Given the description of an element on the screen output the (x, y) to click on. 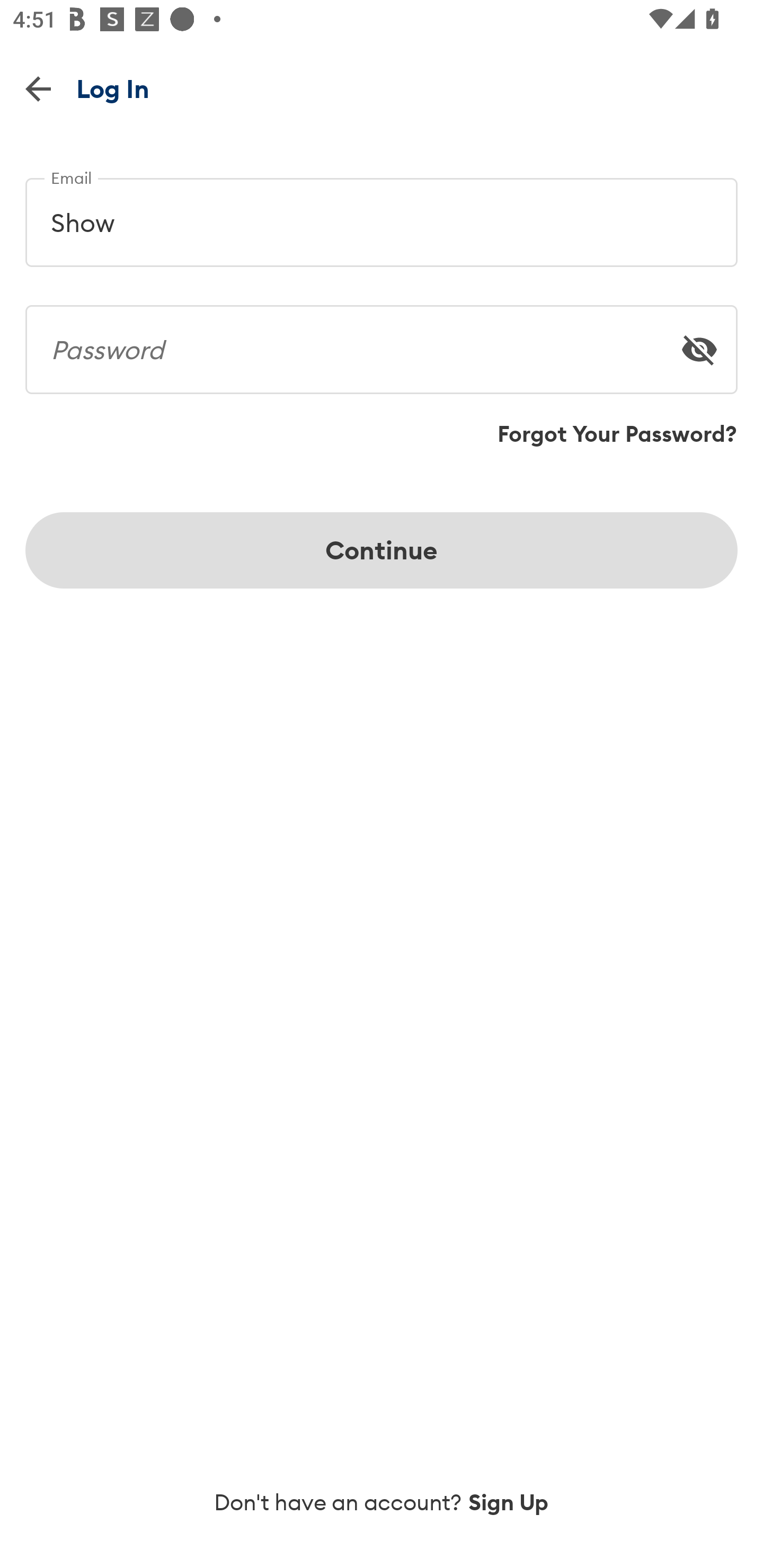
Back (38, 88)
Show Email (381, 215)
Password (381, 342)
Forgot Your Password? (617, 433)
Continue (381, 550)
Sign Up (508, 1502)
